Given the description of an element on the screen output the (x, y) to click on. 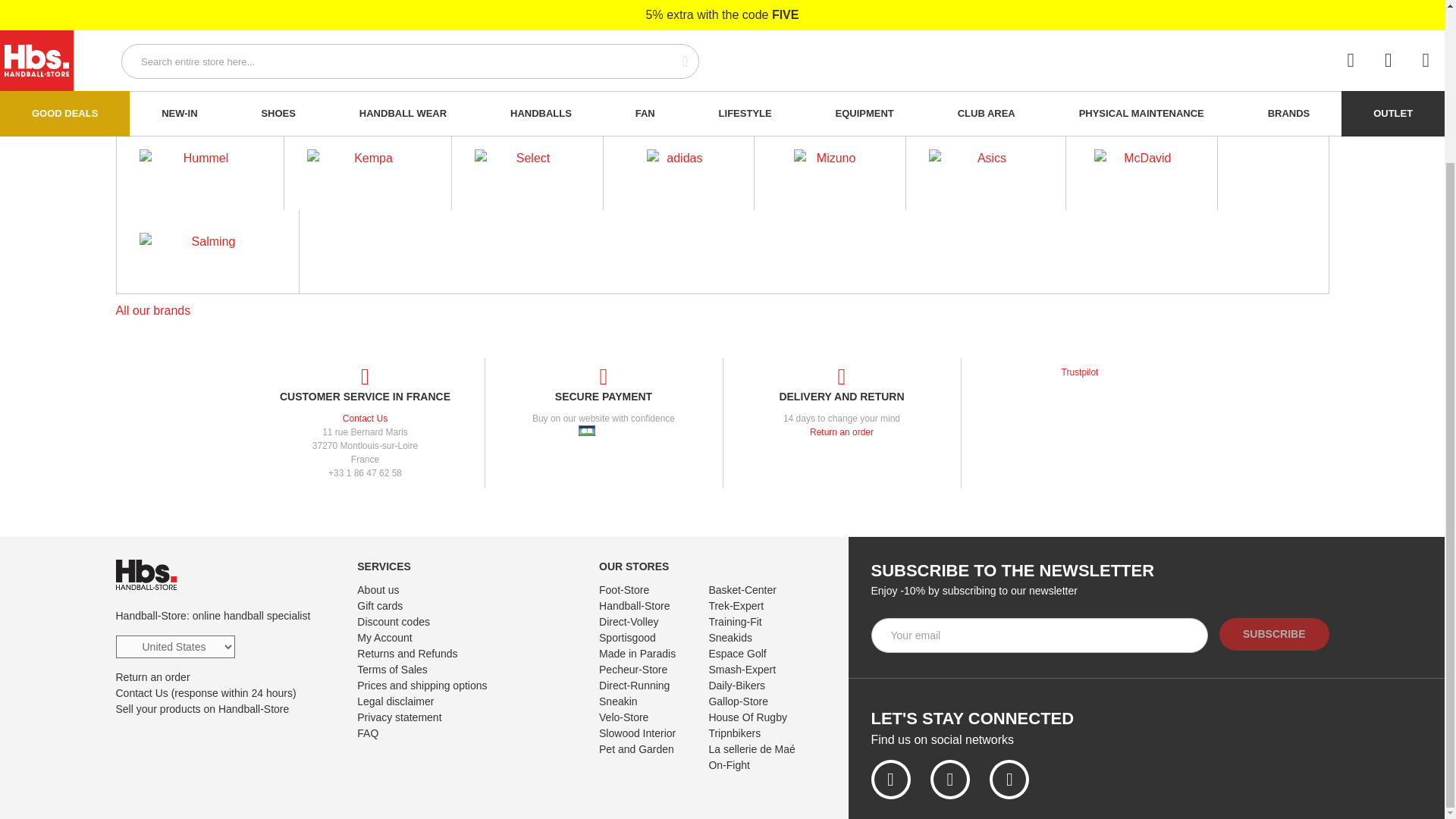
Sign up for our newsletter (1039, 635)
Subscribe (1273, 634)
